Given the description of an element on the screen output the (x, y) to click on. 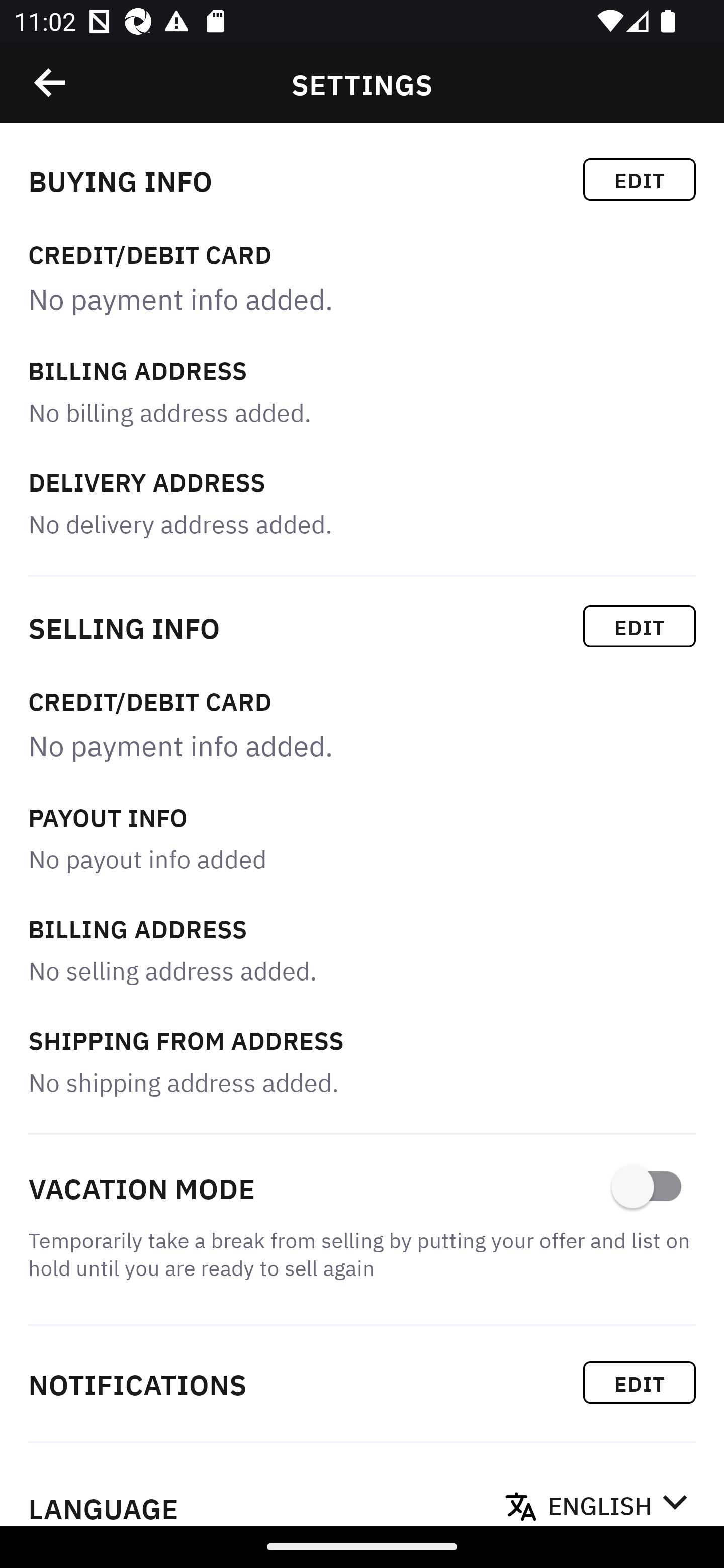
 (50, 83)
EDIT (639, 179)
EDIT (639, 626)
EDIT (639, 1382)
ENGLISH  (617, 1499)
